Given the description of an element on the screen output the (x, y) to click on. 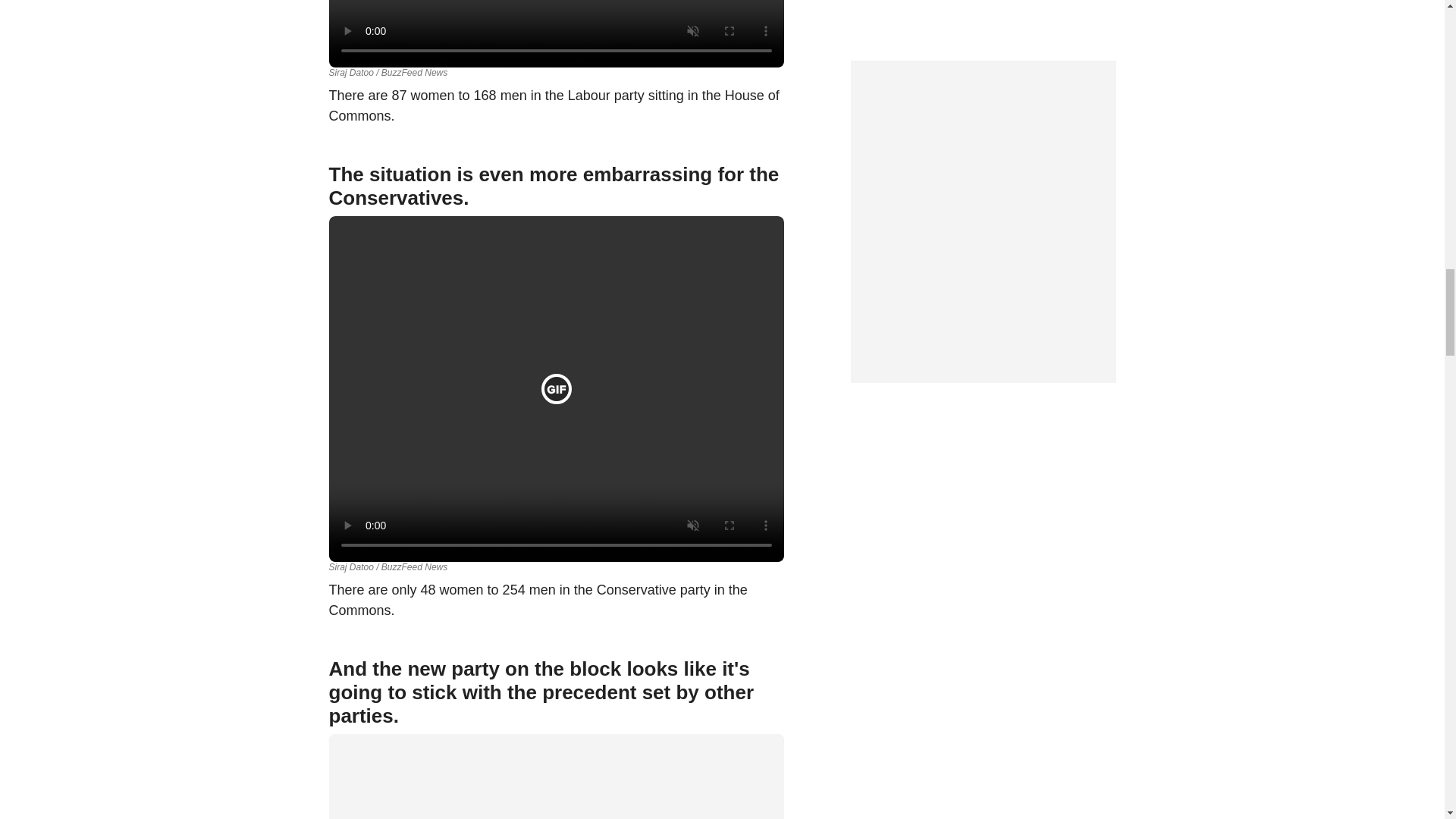
Tap to play GIF (556, 389)
